Given the description of an element on the screen output the (x, y) to click on. 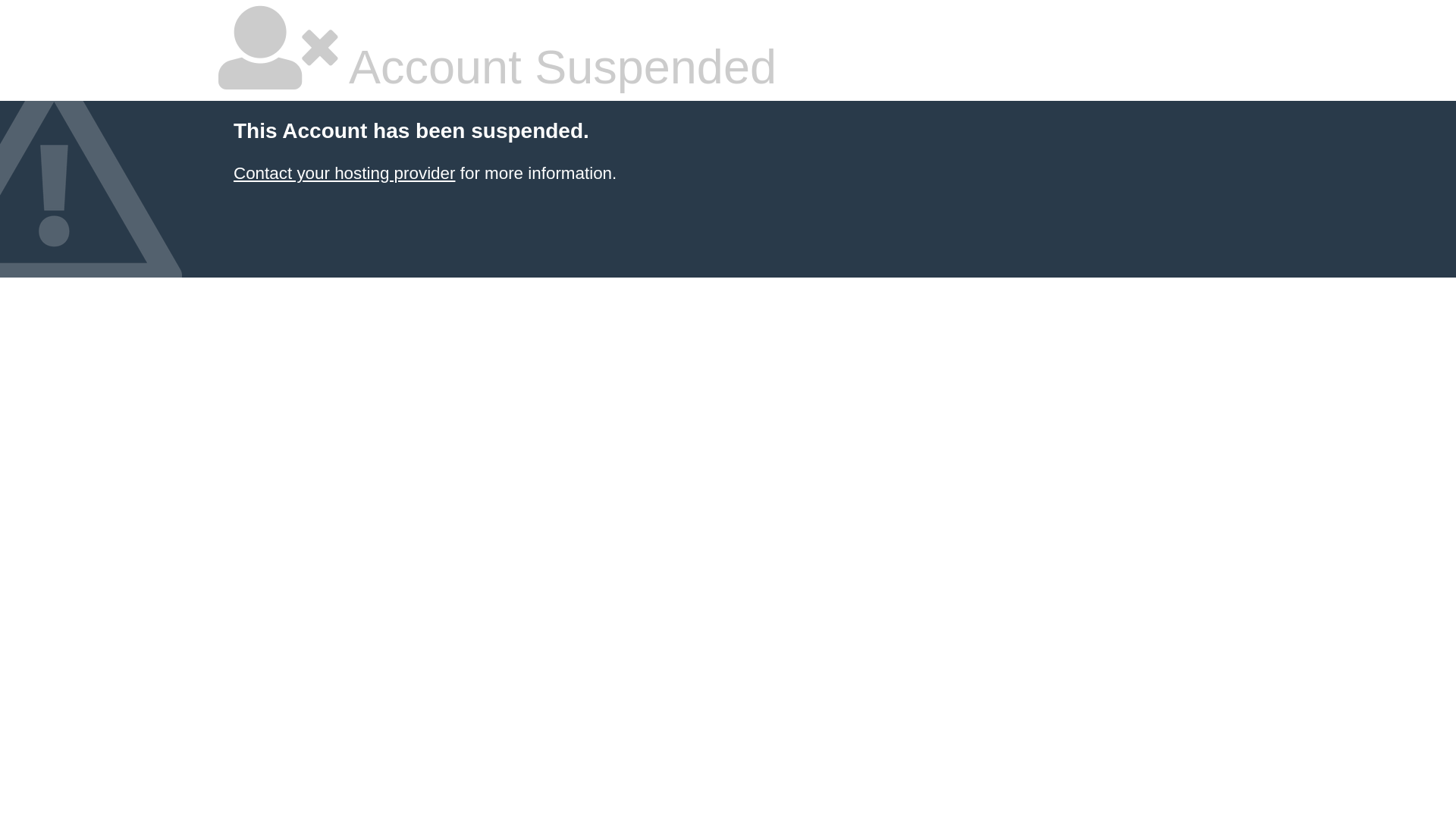
Contact your hosting provider Element type: text (344, 172)
